Given the description of an element on the screen output the (x, y) to click on. 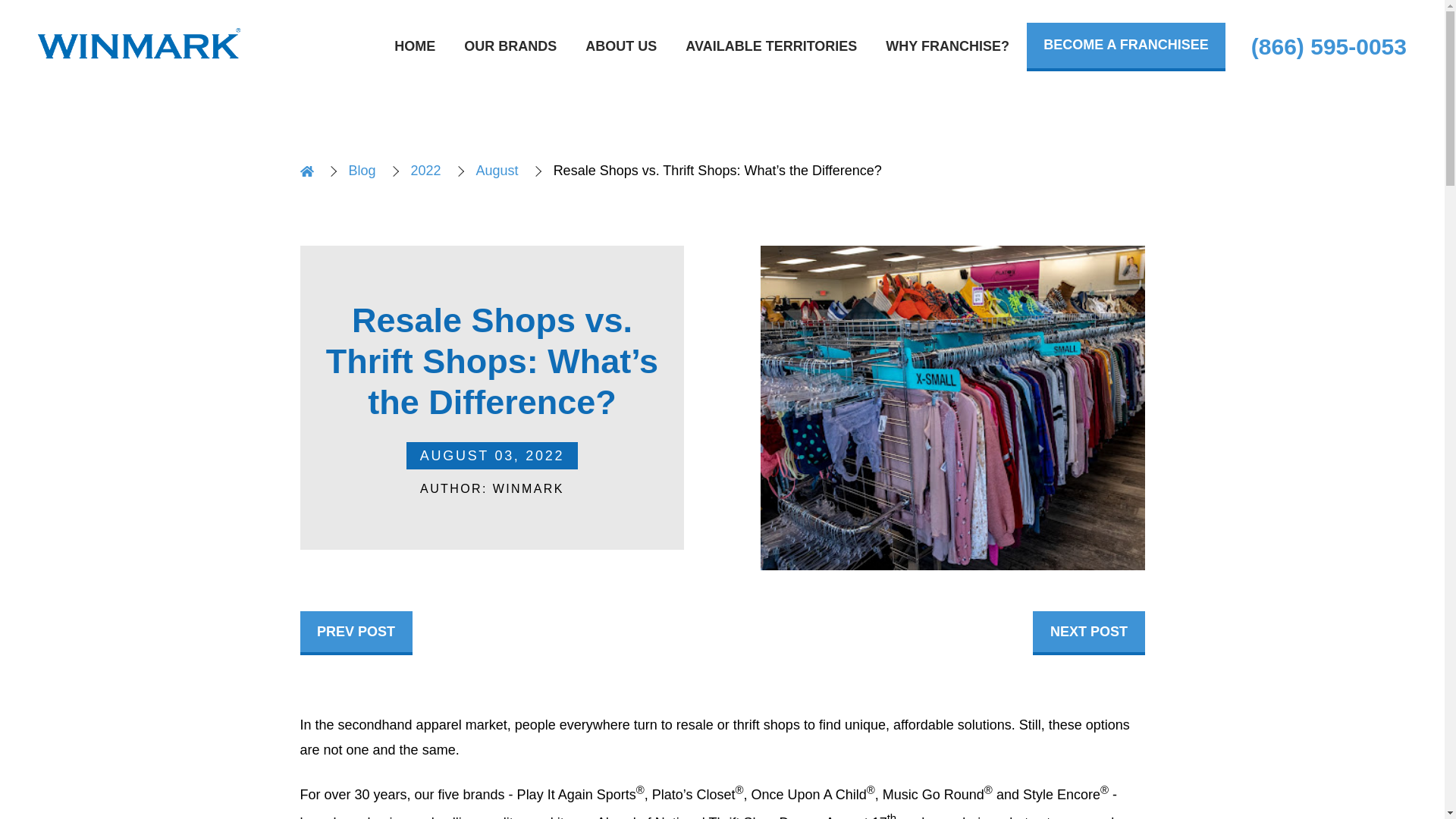
About Us (620, 46)
ABOUT US (620, 46)
Top Navigation (809, 46)
August (497, 171)
Available Territories (771, 46)
WHY FRANCHISE? (947, 46)
BECOME A FRANCHISEE (1125, 46)
AVAILABLE TERRITORIES (771, 46)
Winmark Franchises (138, 46)
2022 (425, 171)
PREV POST (355, 632)
Blog (362, 171)
NEXT POST (1088, 632)
OUR BRANDS (510, 46)
Why Franchise? (947, 46)
